Given the description of an element on the screen output the (x, y) to click on. 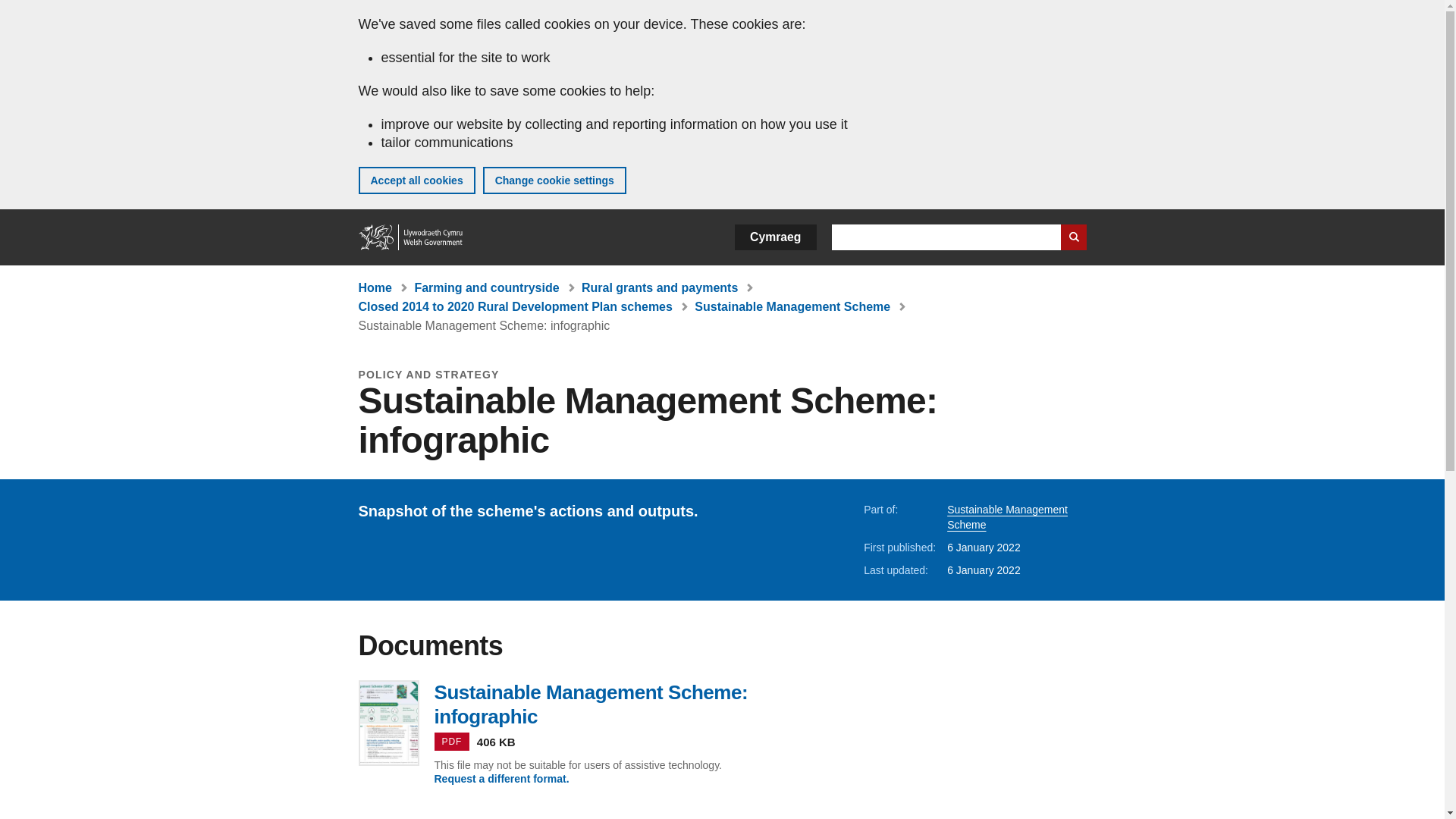
Cymraeg (775, 237)
Search website (1072, 237)
Welsh Government (411, 237)
Home (411, 237)
Change cookie settings (554, 180)
Request a different format. (501, 778)
Sustainable Management Scheme: infographic (484, 325)
Skip to main content (22, 11)
Home (374, 287)
Search website (1072, 237)
Accept all cookies (416, 180)
